Given the description of an element on the screen output the (x, y) to click on. 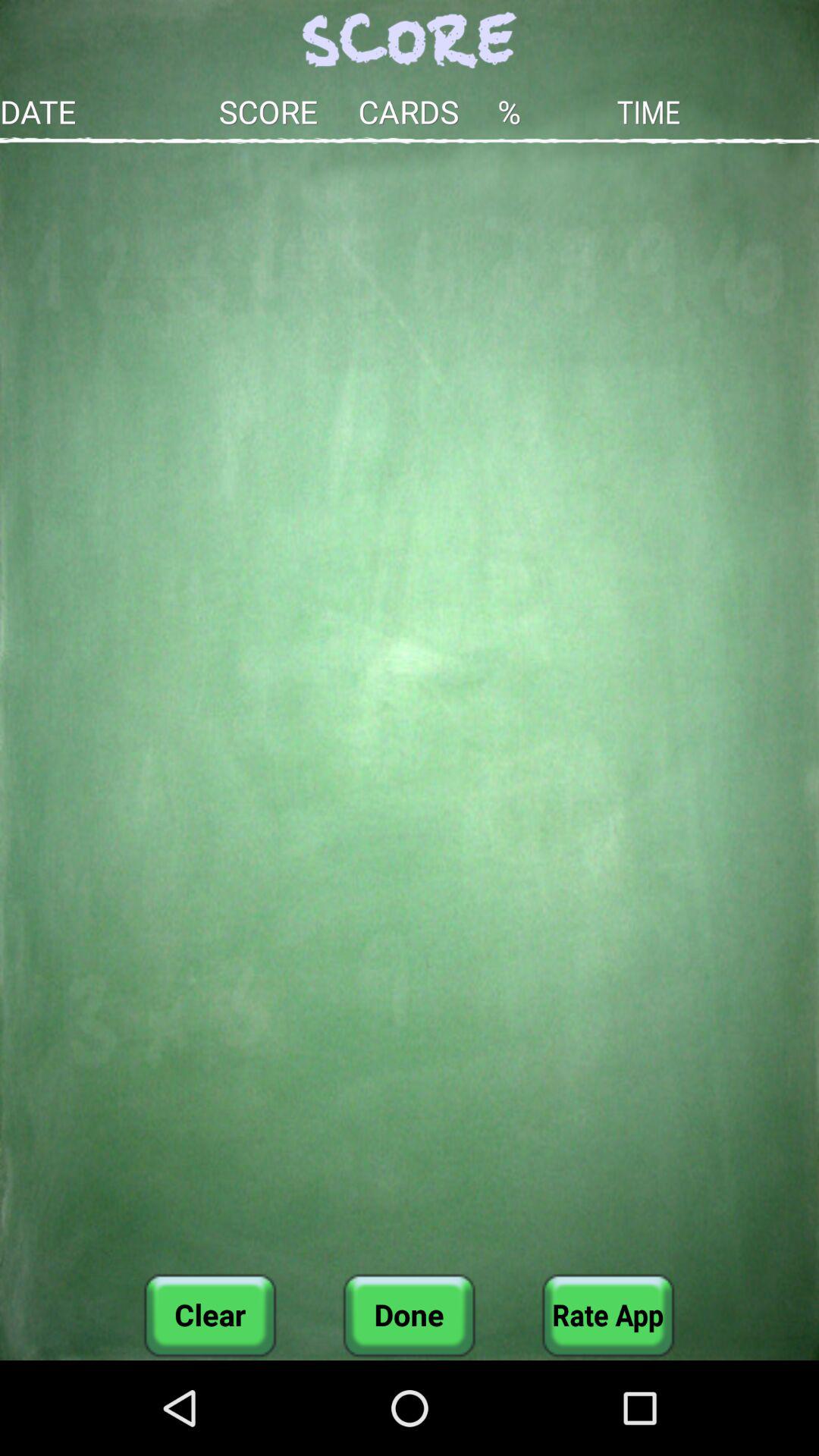
turn off button to the right of the clear item (408, 1315)
